Given the description of an element on the screen output the (x, y) to click on. 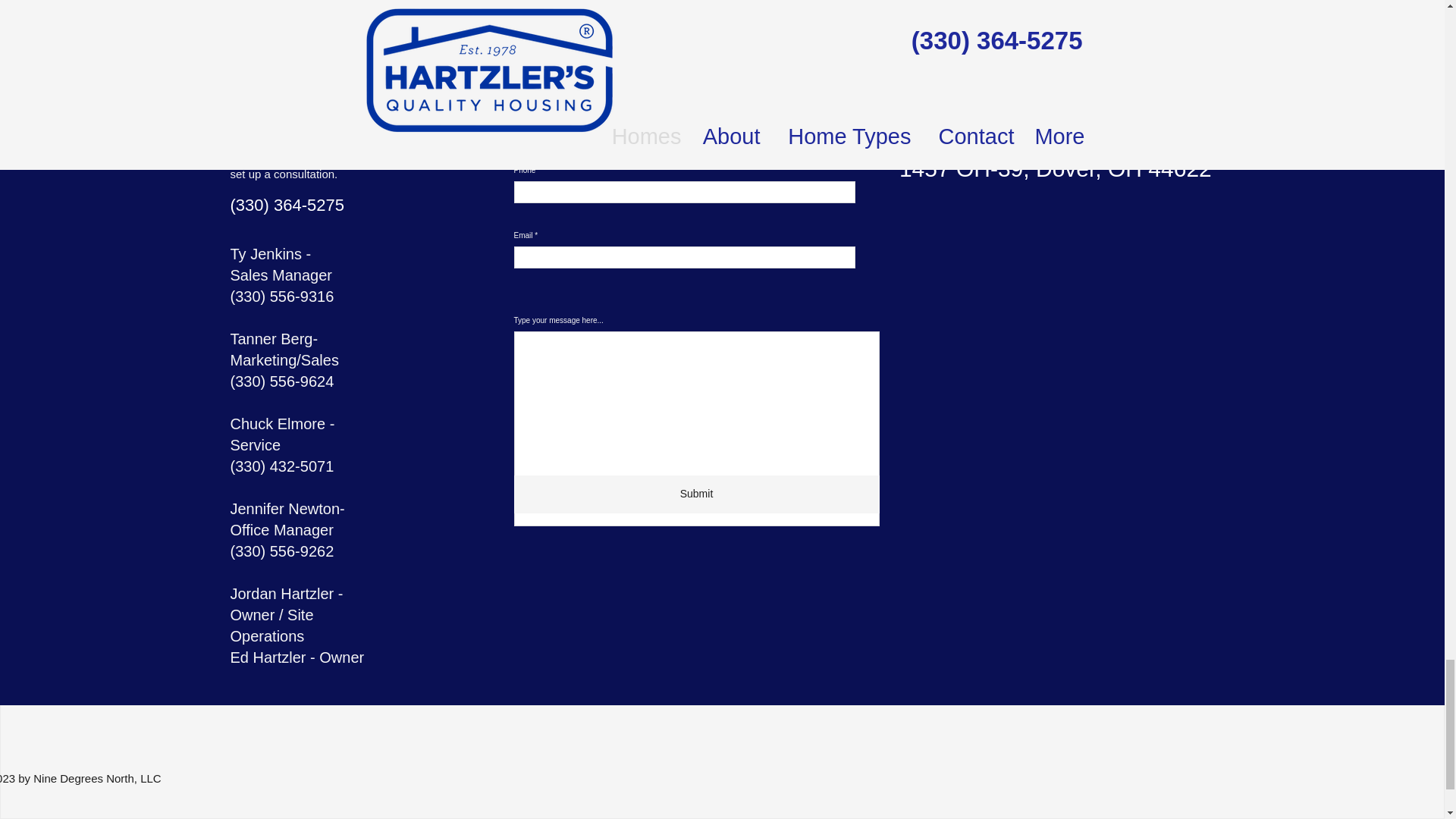
Submit (696, 494)
